Given the description of an element on the screen output the (x, y) to click on. 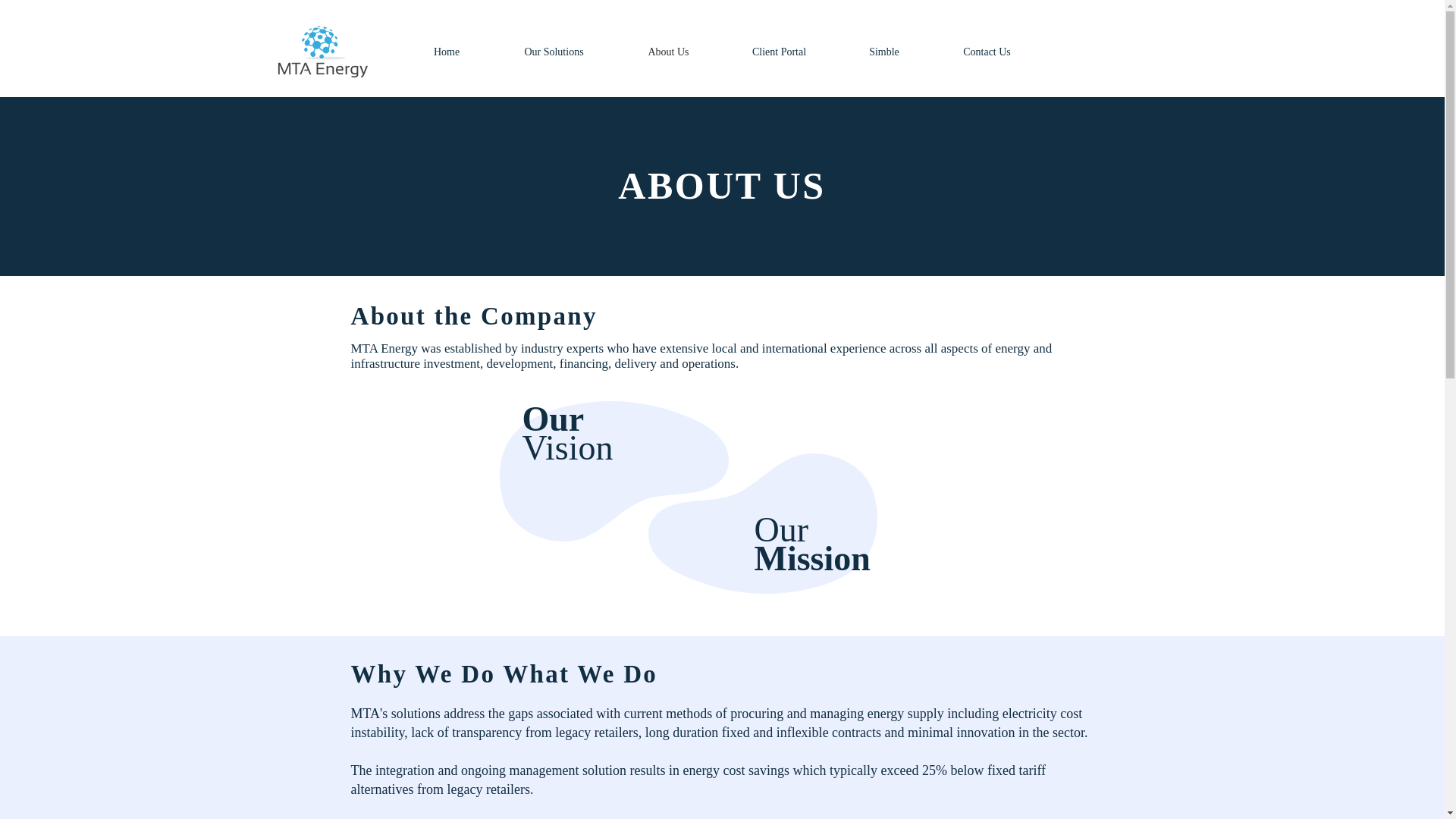
Simble (883, 51)
Home (446, 51)
Our Solutions (553, 51)
Contact Us (987, 51)
Client Portal (778, 51)
About Us (667, 51)
